Given the description of an element on the screen output the (x, y) to click on. 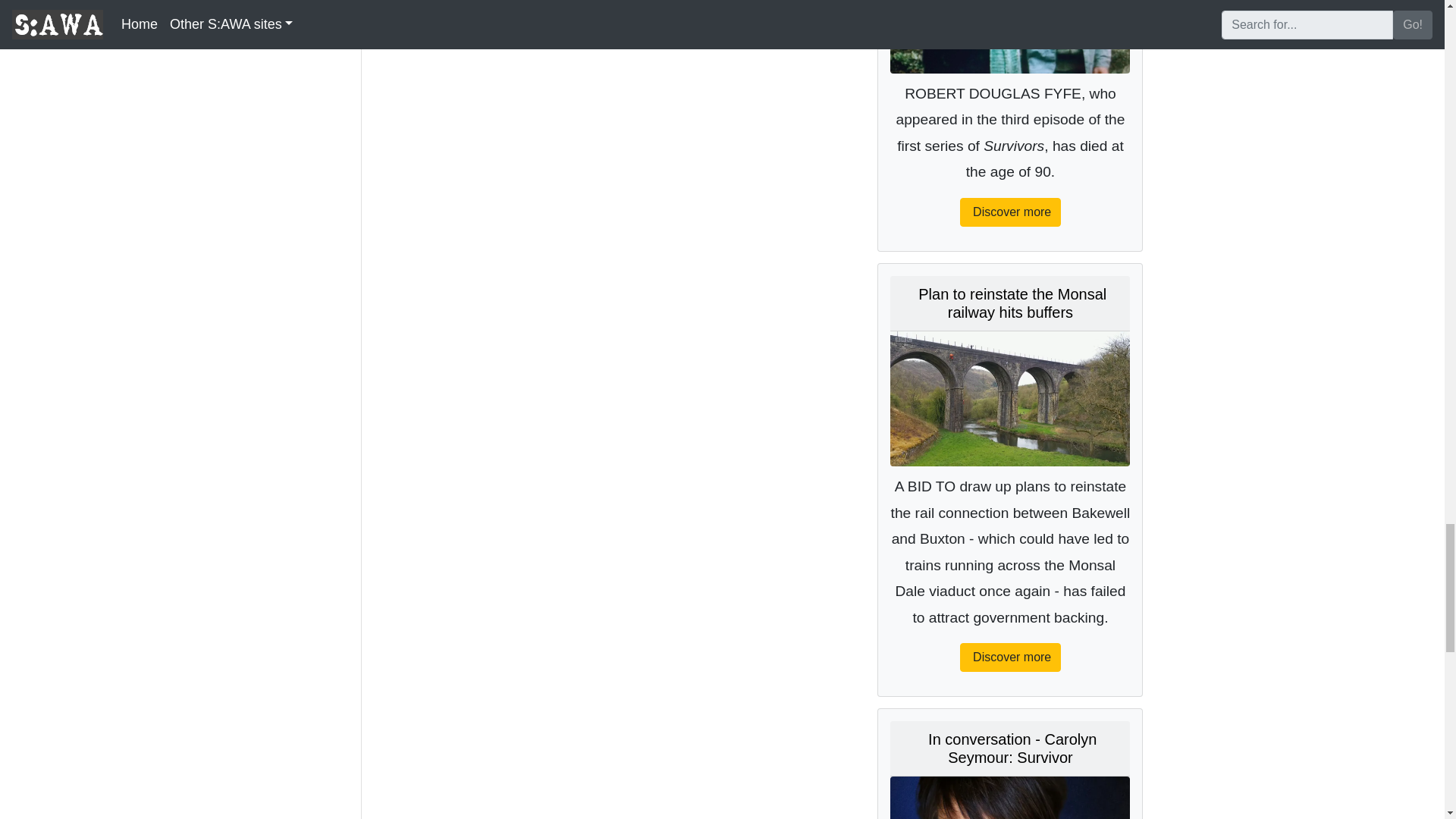
 Discover more (1010, 212)
 Discover more (1010, 656)
